Given the description of an element on the screen output the (x, y) to click on. 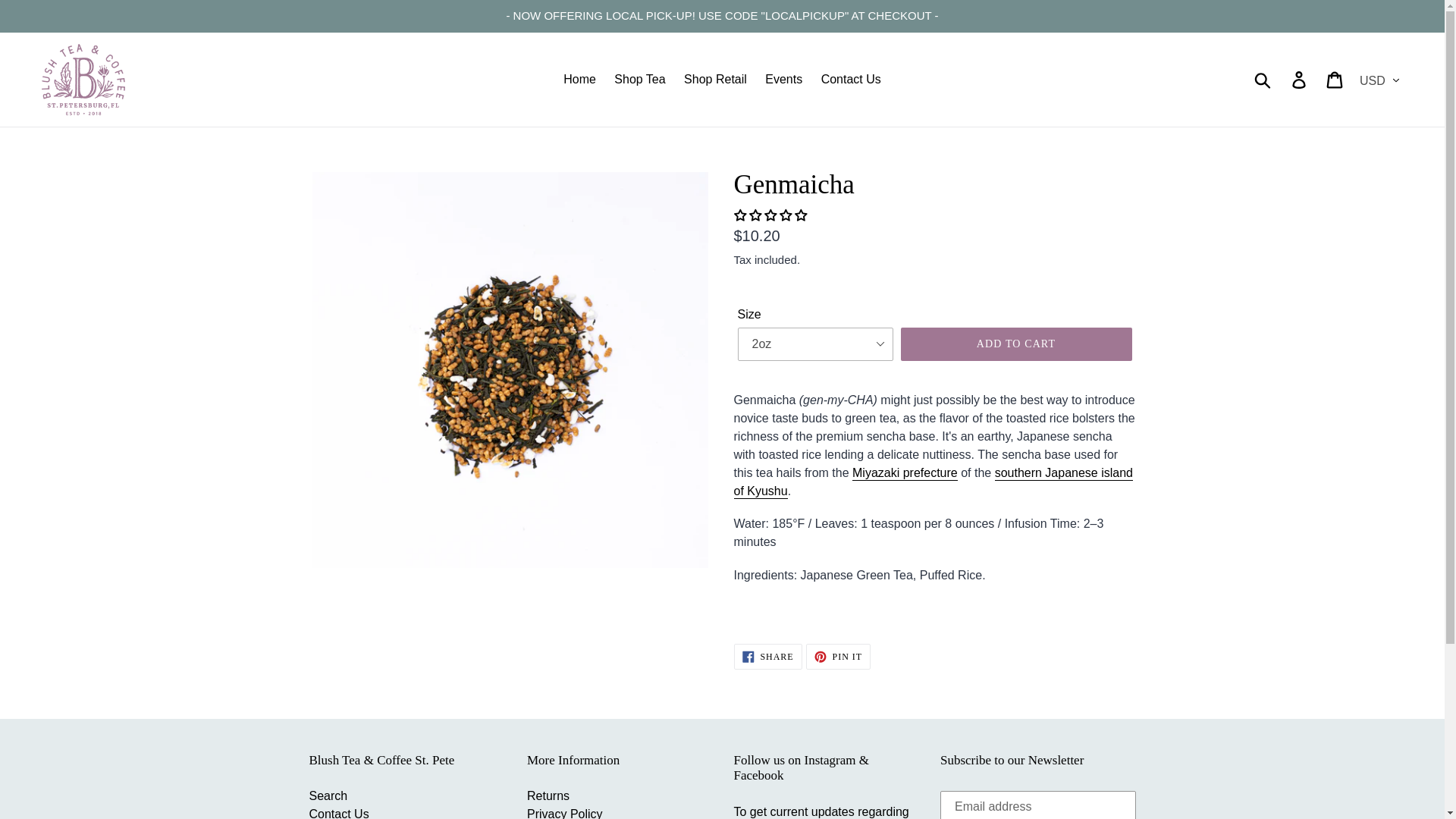
ADD TO CART (1016, 344)
Log in (767, 656)
southern Japanese island of Kyushu (1299, 78)
Contact Us (838, 656)
Events (933, 482)
Submit (850, 78)
Cart (783, 78)
Miyazaki prefecture (1263, 78)
